Given the description of an element on the screen output the (x, y) to click on. 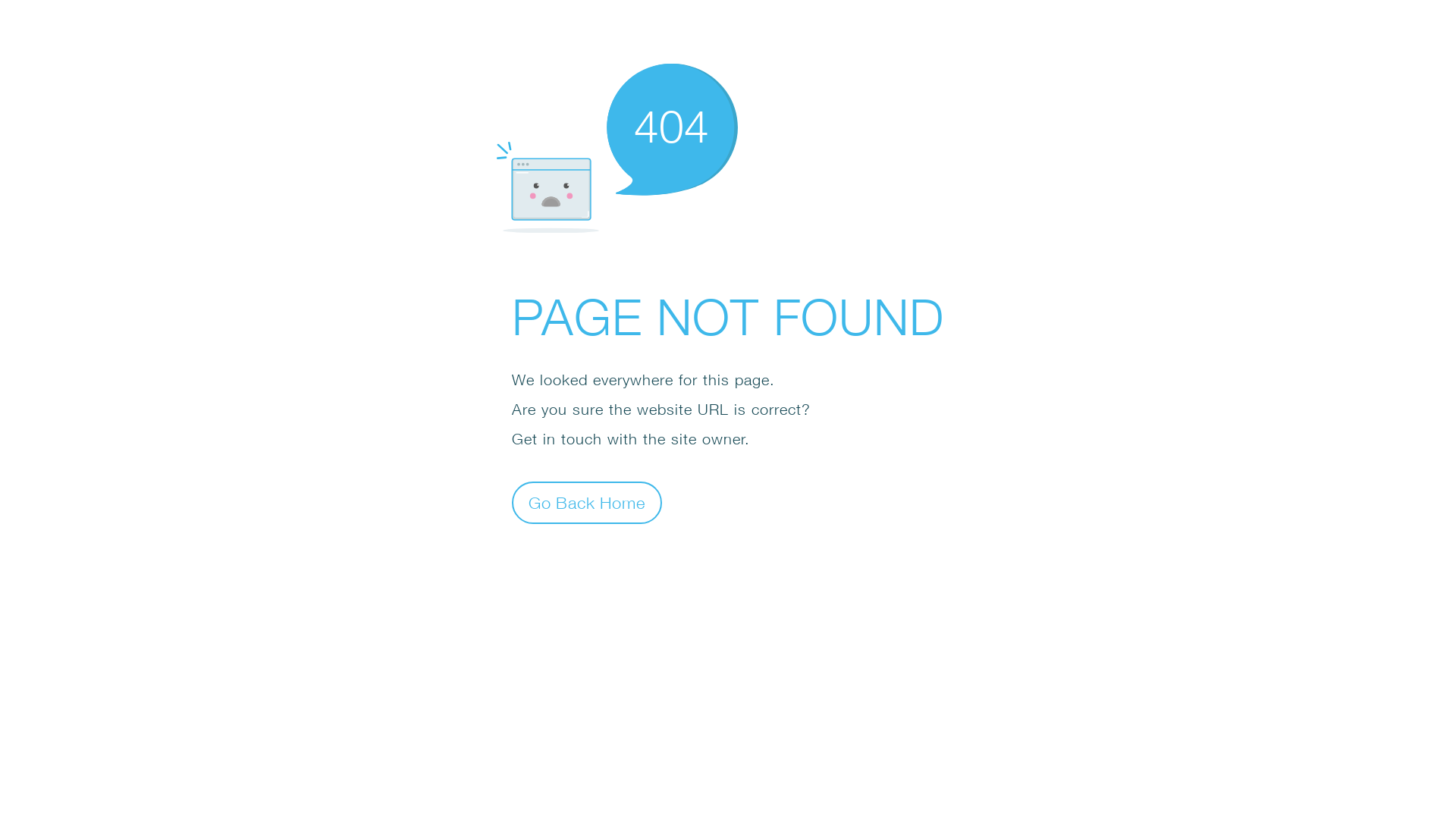
Go Back Home Element type: text (586, 502)
